Given the description of an element on the screen output the (x, y) to click on. 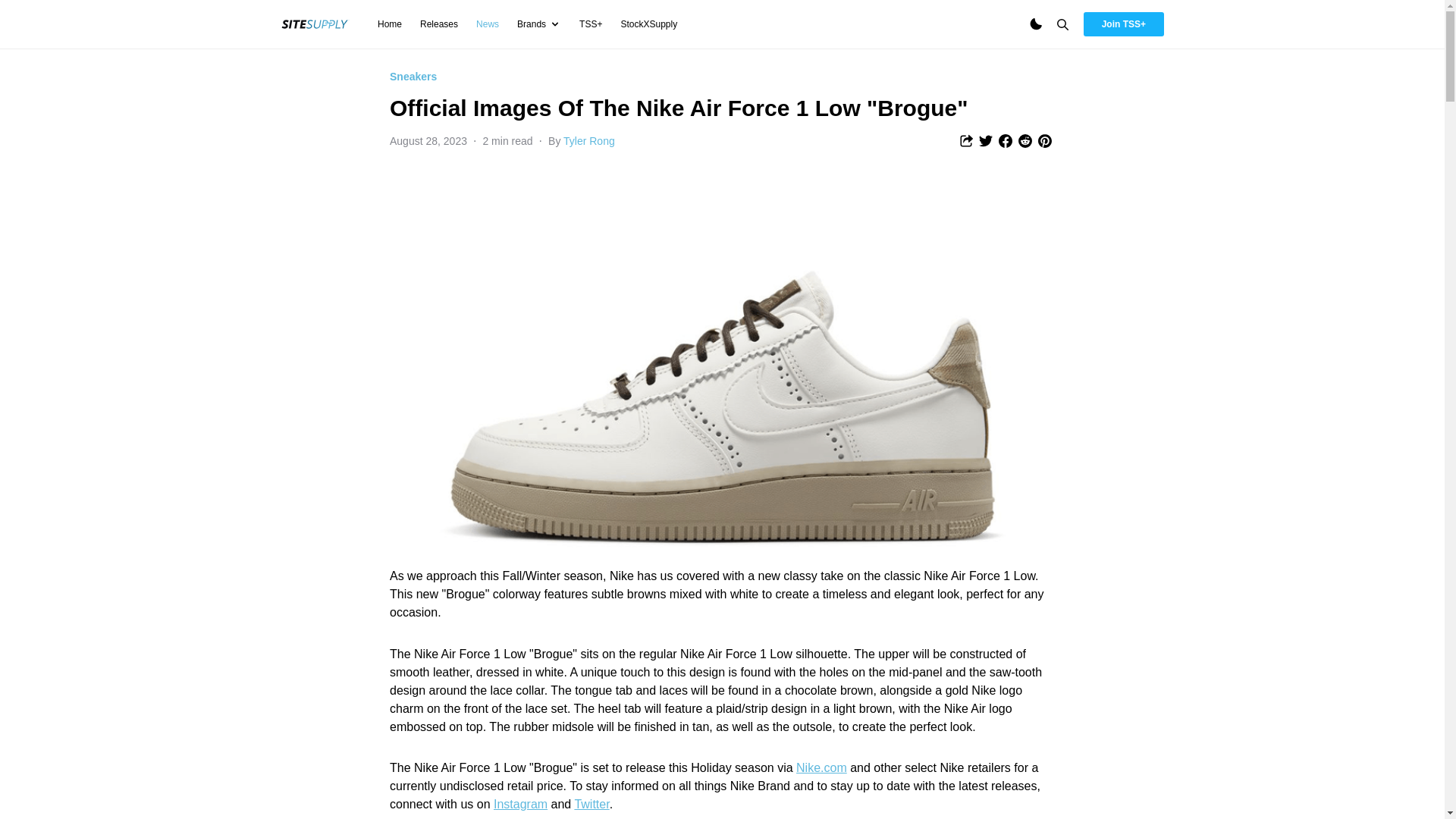
Tyler Rong (588, 141)
Twitter (590, 803)
Home (389, 23)
Instagram (520, 803)
Nike.com (821, 767)
StockXSupply (648, 23)
Releases (439, 23)
News (487, 23)
